Given the description of an element on the screen output the (x, y) to click on. 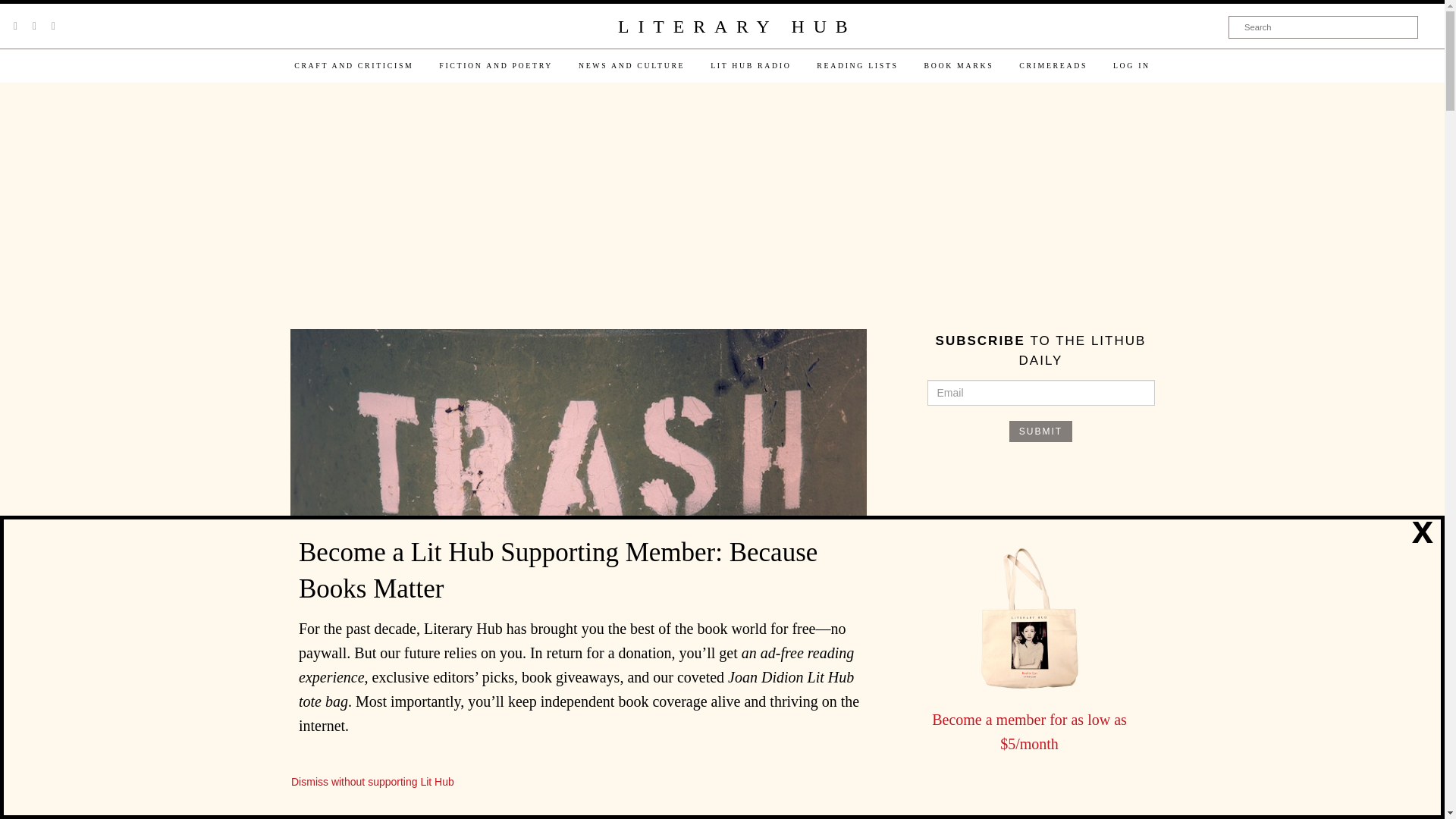
Twitter (15, 25)
Facebook (34, 25)
Search (1323, 26)
NEWS AND CULTURE (631, 65)
Support Lit Hub. (1040, 788)
CRAFT AND CRITICISM (353, 65)
FICTION AND POETRY (496, 65)
LITERARY HUB (736, 26)
Instagram (52, 25)
